Given the description of an element on the screen output the (x, y) to click on. 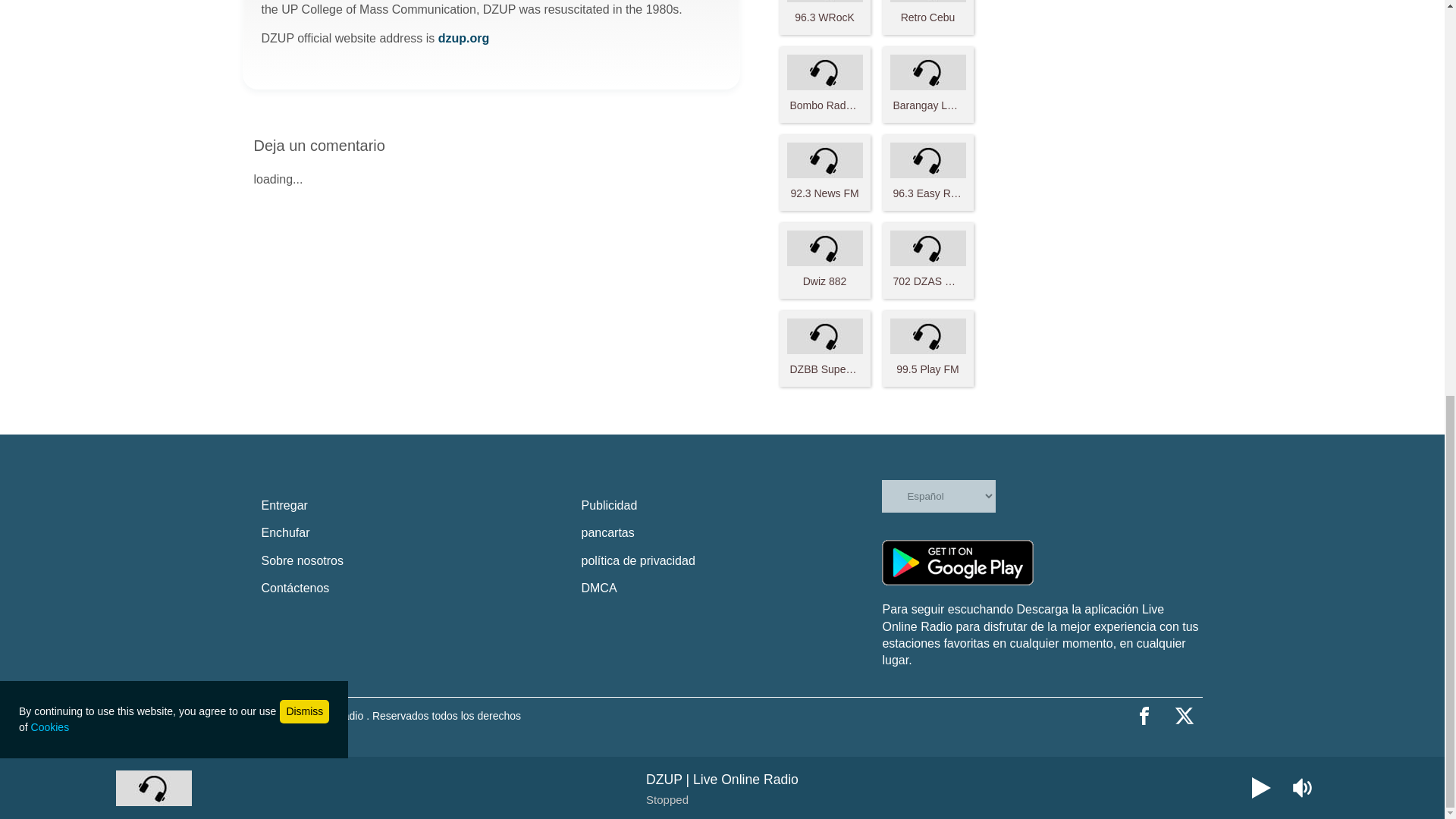
dzup.org (463, 38)
Enchufar (411, 533)
Retro Cebu (928, 16)
96.3 Easy Rock (928, 172)
99.5 Play FM (928, 347)
Entregar (411, 505)
DZBB Super Radyo (824, 347)
Dwiz 882 (824, 259)
Retro Cebu (928, 16)
702 DZAS Radio (928, 259)
DMCA (731, 587)
92.3 News FM (824, 172)
92.3 News FM (824, 172)
99.5 Play FM (928, 347)
Dwiz 882 (824, 259)
